Given the description of an element on the screen output the (x, y) to click on. 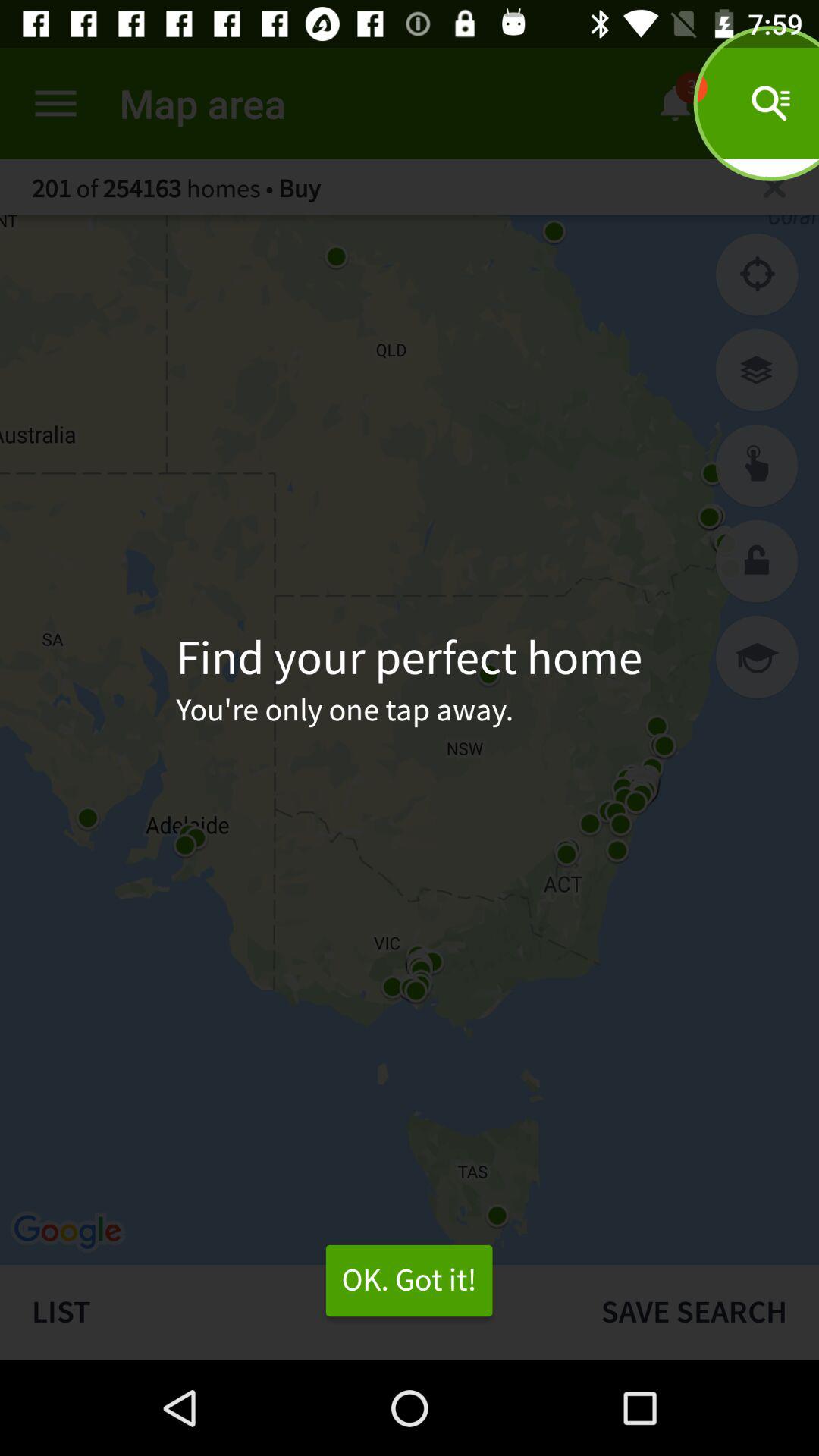
select item next to find your perfect icon (756, 656)
